Given the description of an element on the screen output the (x, y) to click on. 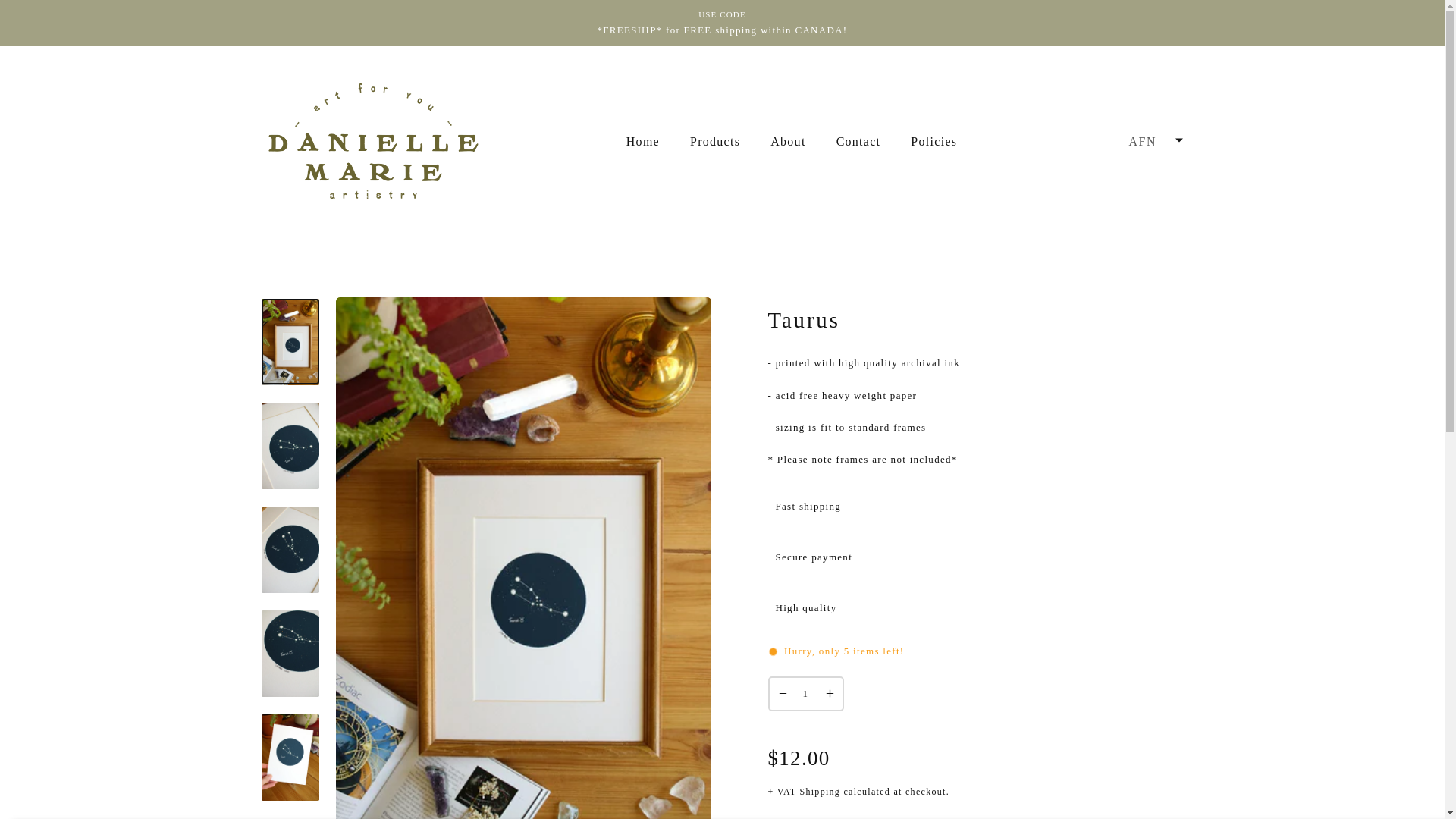
Home (643, 141)
1 (805, 693)
Products (715, 141)
